Given the description of an element on the screen output the (x, y) to click on. 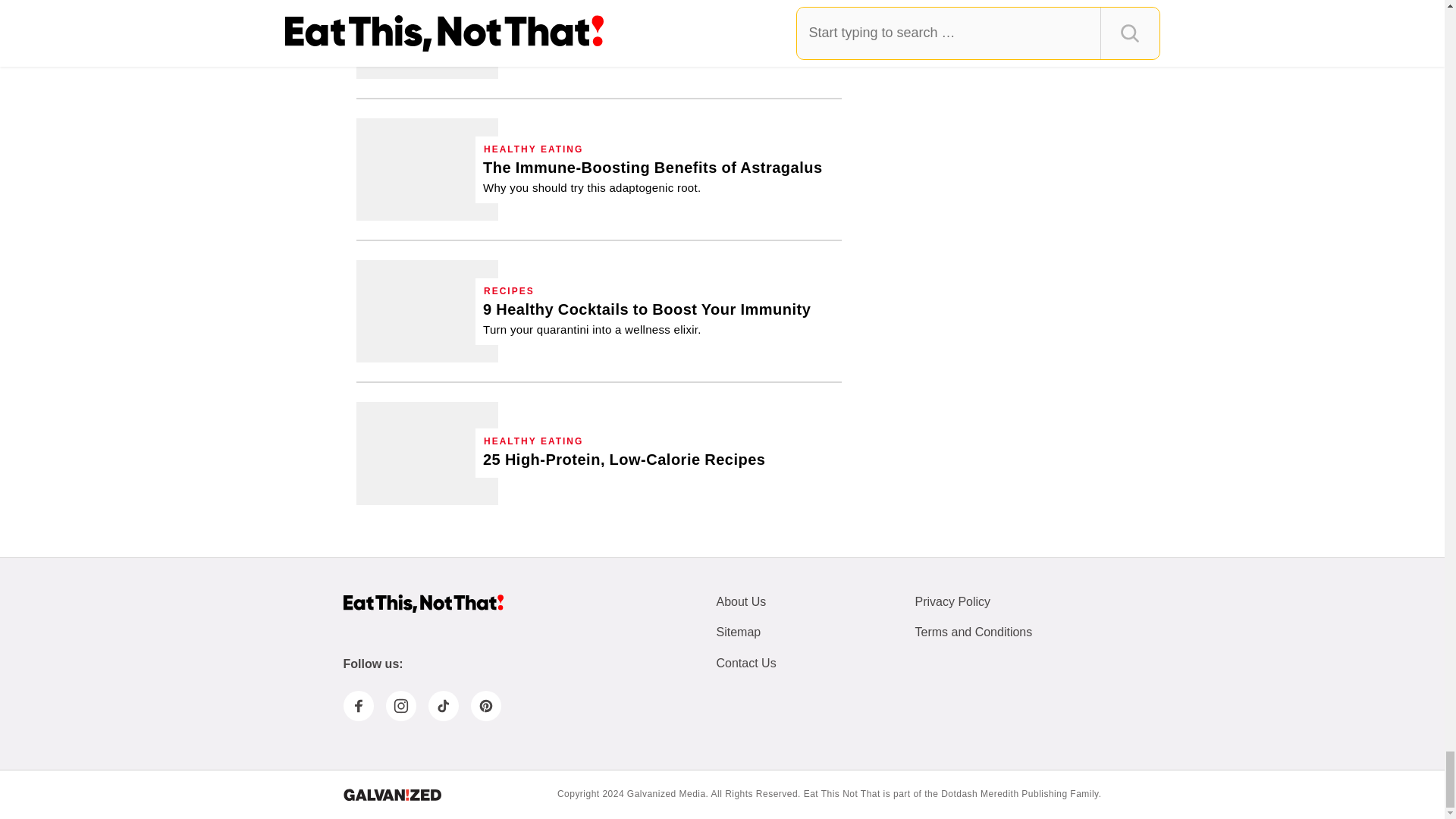
25 High-Protein Recipes That Are Also Low in Calories (426, 453)
25 High-Protein Recipes That Are Also Low in Calories (624, 459)
